Given the description of an element on the screen output the (x, y) to click on. 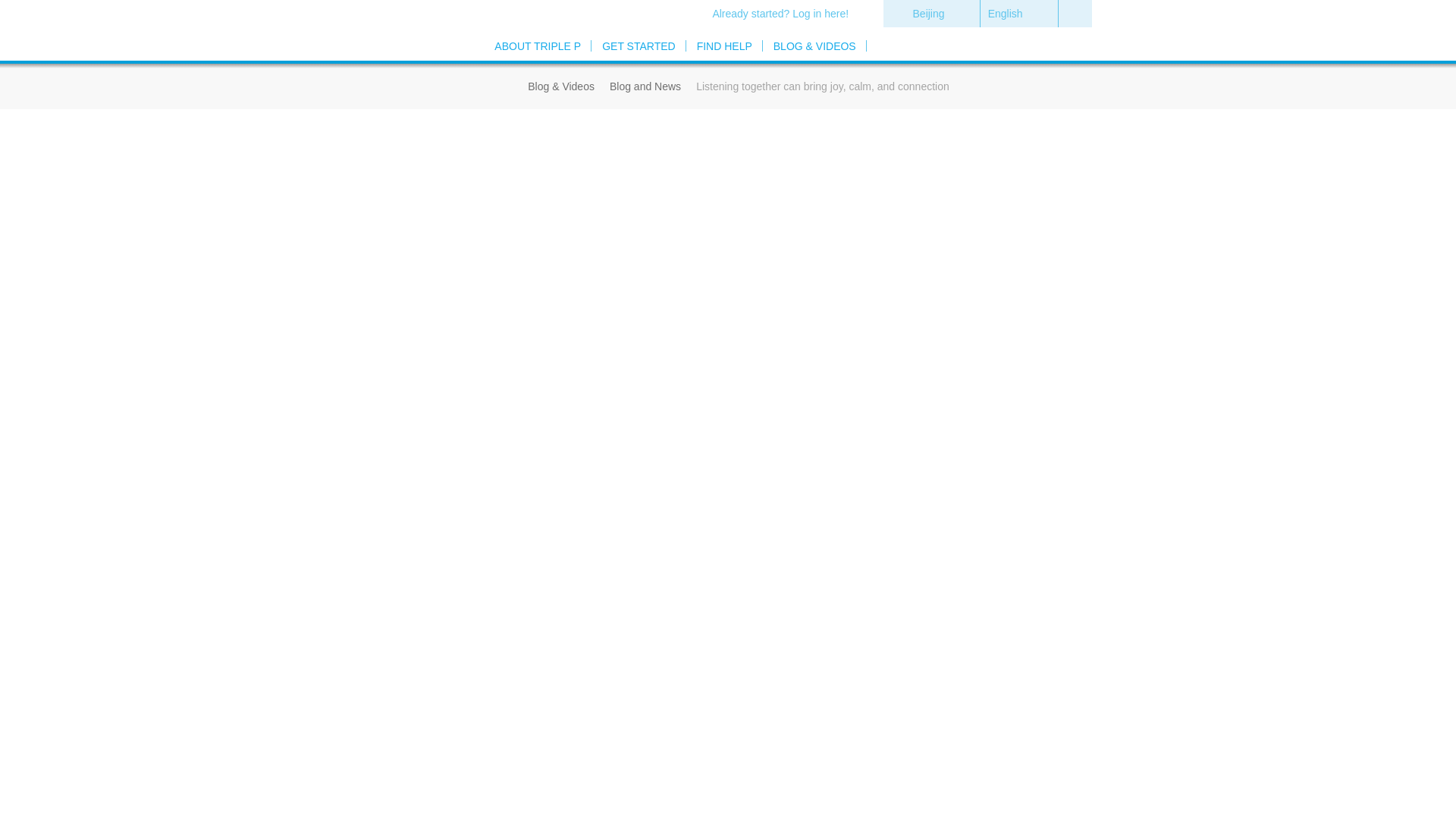
ABOUT TRIPLE P (537, 45)
GET STARTED (638, 45)
FIND HELP (723, 45)
